Given the description of an element on the screen output the (x, y) to click on. 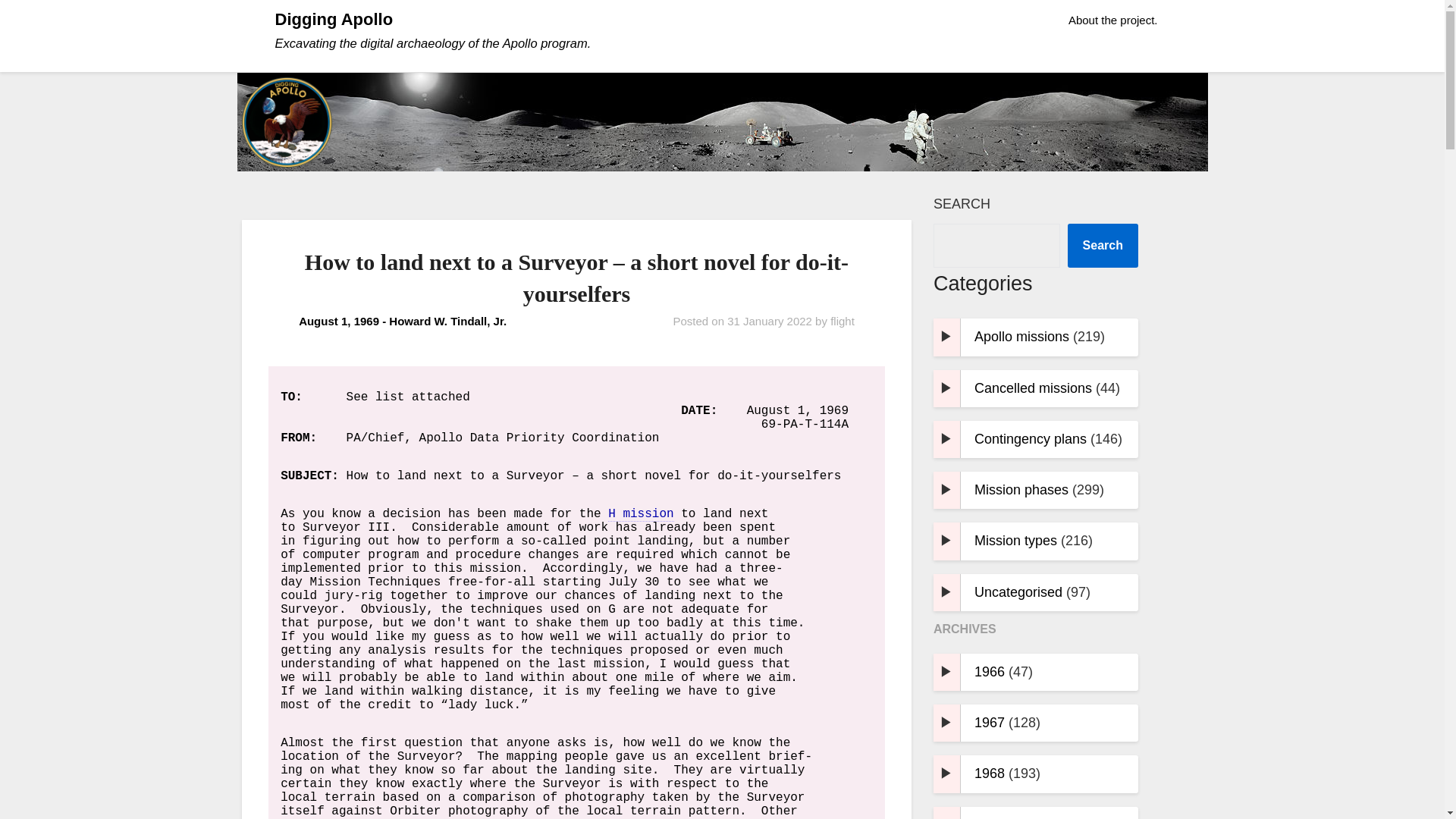
About the project. (1113, 20)
Apollo 12-14 (640, 513)
Cancelled missions (1033, 387)
31 January 2022 (769, 320)
Search (1102, 245)
flight (841, 320)
Apollo missions (1021, 336)
